Given the description of an element on the screen output the (x, y) to click on. 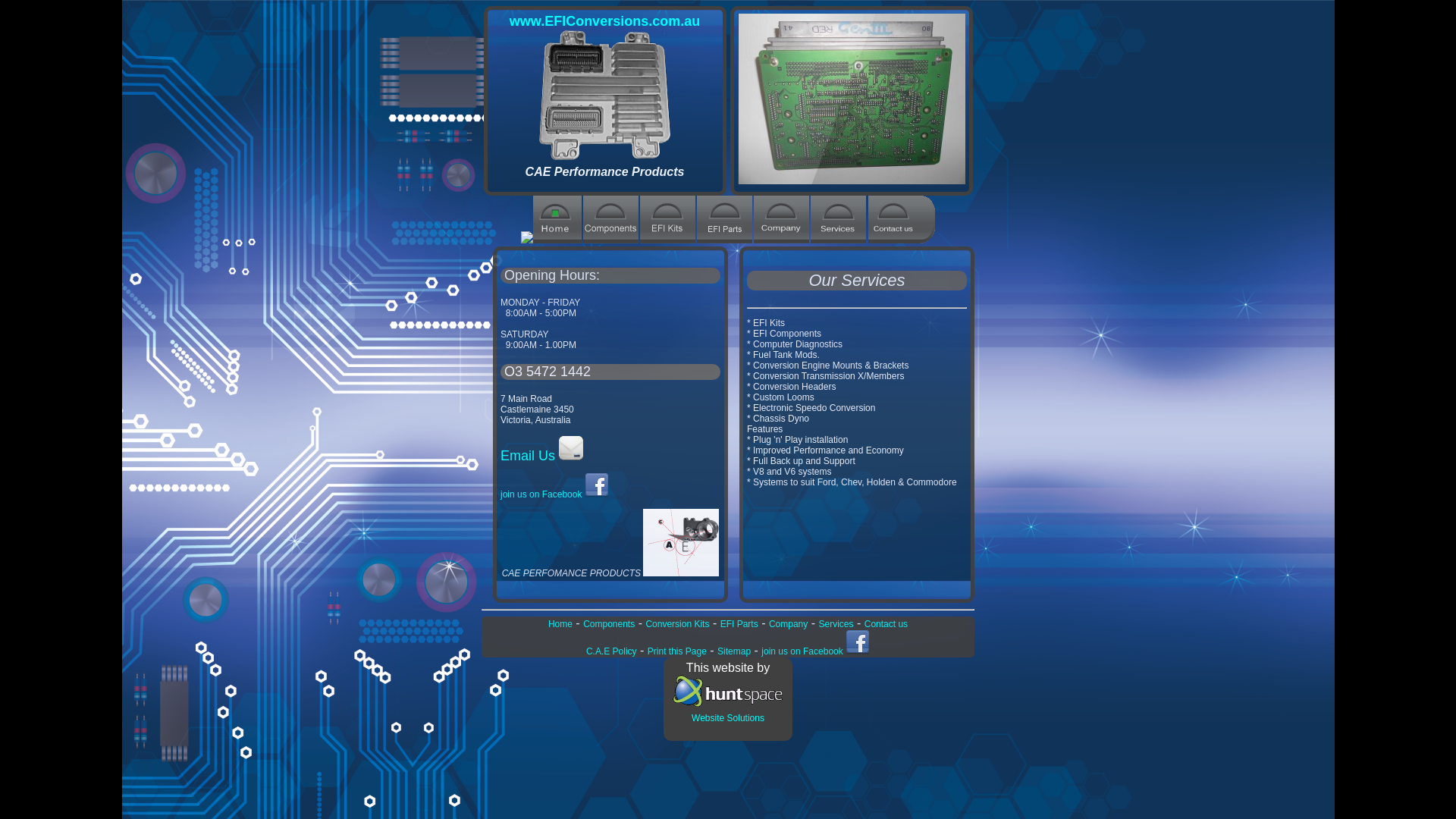
CAE EFI Components Element type: hover (610, 238)
Company Element type: text (787, 623)
CAE EFI Conversion Kits. Element type: hover (667, 238)
C.A.E Policy Element type: text (611, 651)
join us on Facebook Element type: text (815, 651)
CAE About Us. Element type: hover (781, 238)
Print this Page Element type: text (676, 651)
How to Locate and Contact us. Element type: hover (892, 238)
Email Us Element type: text (541, 455)
Contact us Element type: text (885, 623)
Home Element type: text (560, 623)
Components Element type: text (608, 623)
www.EFIConversions.com.au Element type: text (604, 20)
CAE Home Page. Element type: hover (557, 238)
CAE EFI Coversion Engine Mounts, Cross Members and more. Element type: hover (724, 238)
EFI Parts Element type: text (739, 623)
join us on Facebook Element type: text (554, 494)
Conversion Kits Element type: text (677, 623)
Website Solutions Element type: text (727, 711)
Sitemap Element type: text (733, 651)
CAE EFI Services. Element type: hover (838, 238)
Services Element type: text (835, 623)
